Given the description of an element on the screen output the (x, y) to click on. 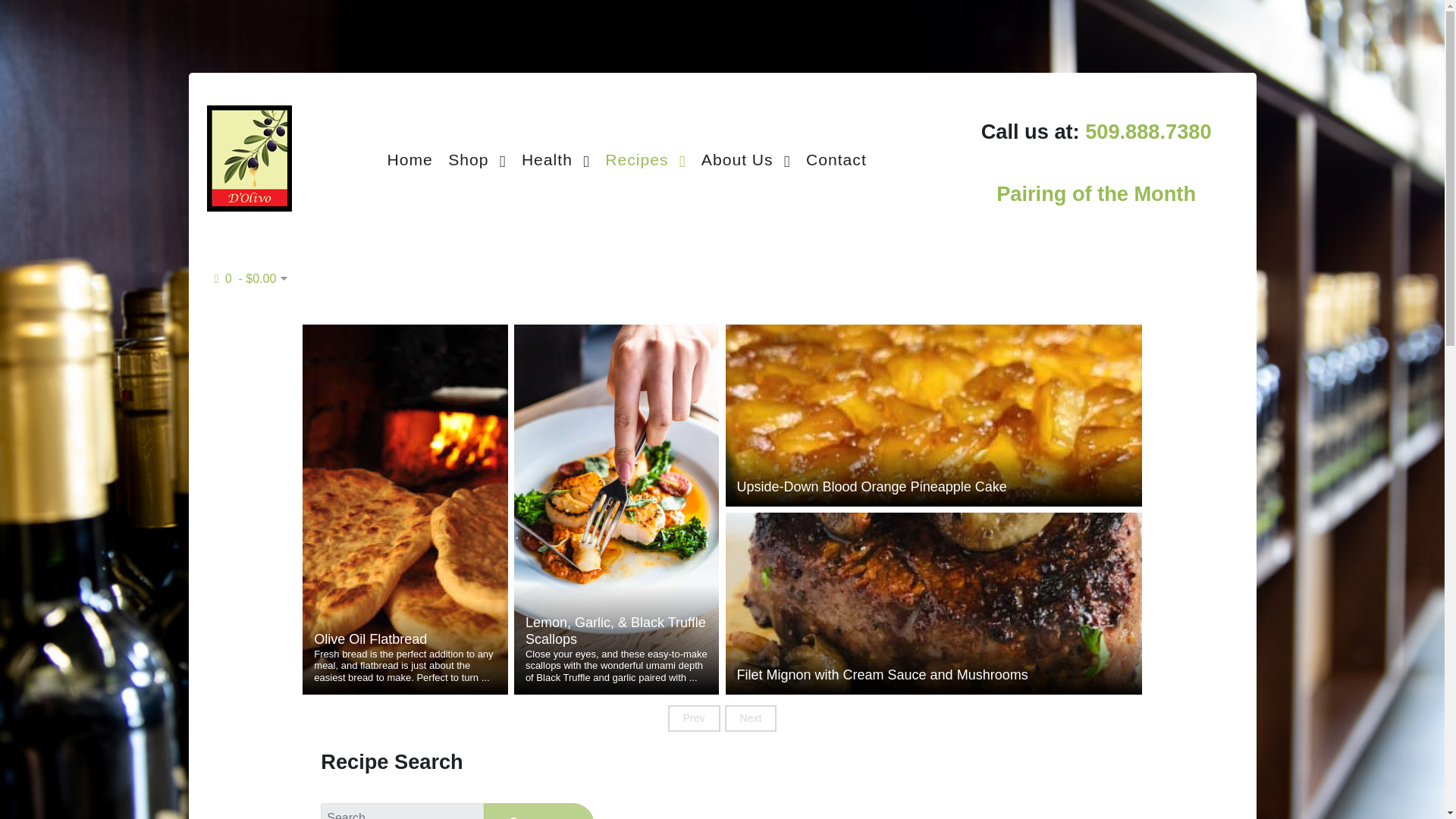
Next (751, 718)
509.888.7380 (1147, 146)
Upside-Down Blood Orange Pineapple Cake (933, 487)
Pairing of the Month (1095, 193)
Search (538, 811)
Prev (694, 718)
Olive Oil Flatbread (405, 639)
Contact (835, 158)
Filet Mignon with Cream Sauce and Mushrooms (933, 675)
Shop (477, 158)
